Given the description of an element on the screen output the (x, y) to click on. 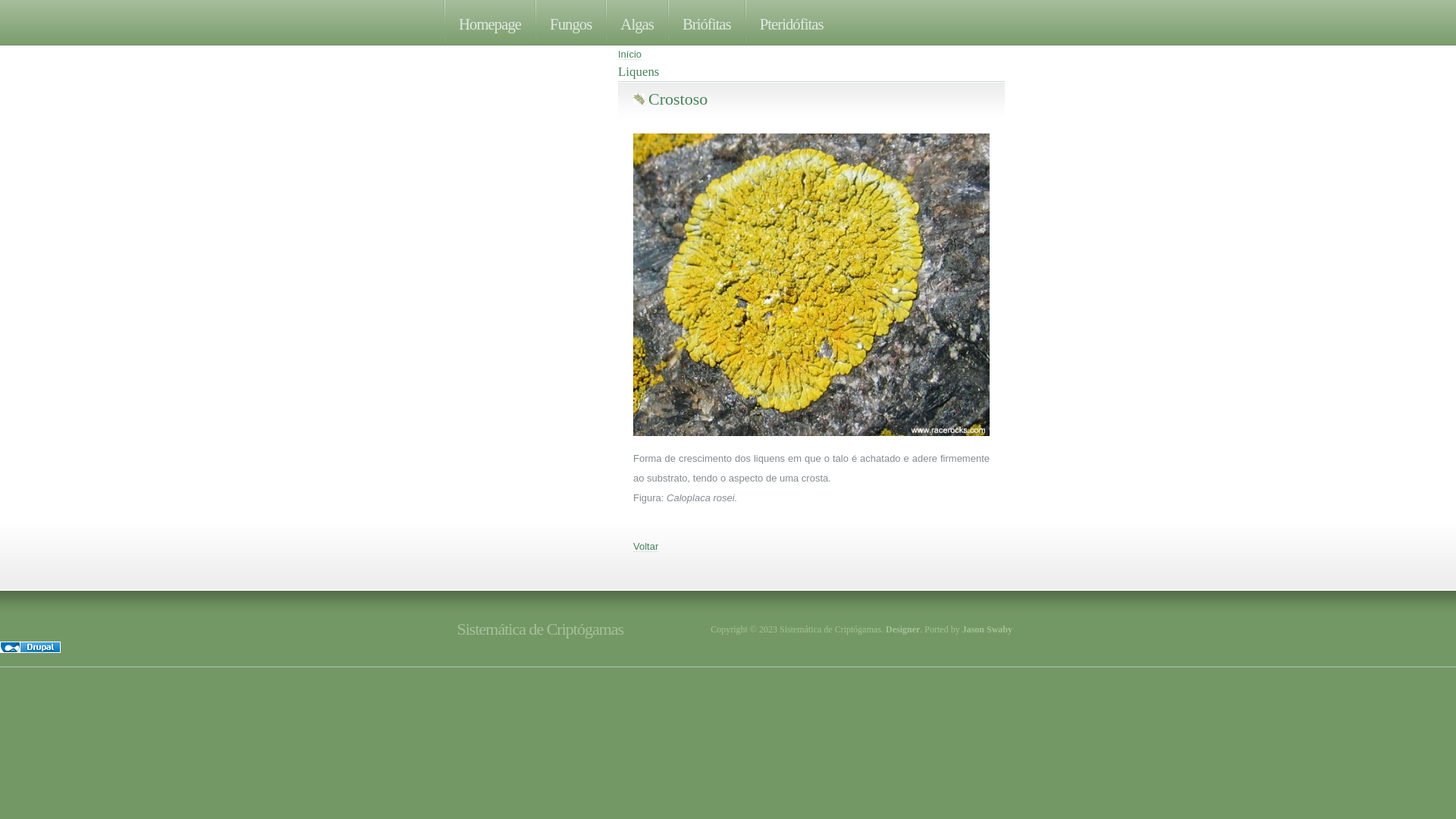
Algas Element type: text (636, 20)
Homepage Element type: text (489, 20)
Fungos Element type: text (570, 20)
Voltar Element type: text (645, 546)
Designer Element type: text (902, 629)
Jason Swaby Element type: text (987, 629)
